Given the description of an element on the screen output the (x, y) to click on. 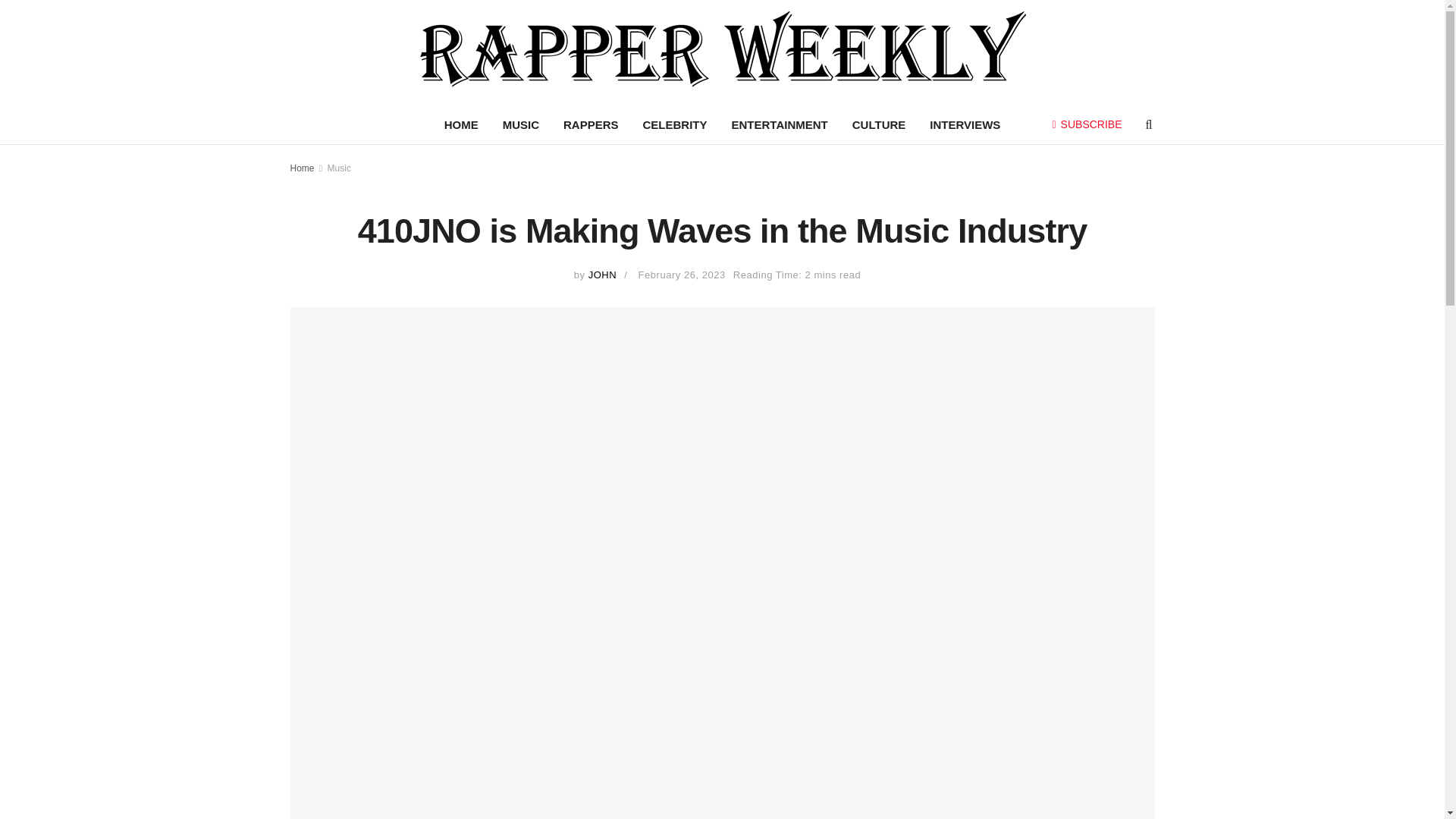
MUSIC (520, 125)
RAPPERS (590, 125)
ENTERTAINMENT (779, 125)
Music (338, 167)
February 26, 2023 (682, 274)
SUBSCRIBE (1087, 123)
JOHN (601, 274)
CELEBRITY (674, 125)
HOME (461, 125)
CULTURE (879, 125)
